Given the description of an element on the screen output the (x, y) to click on. 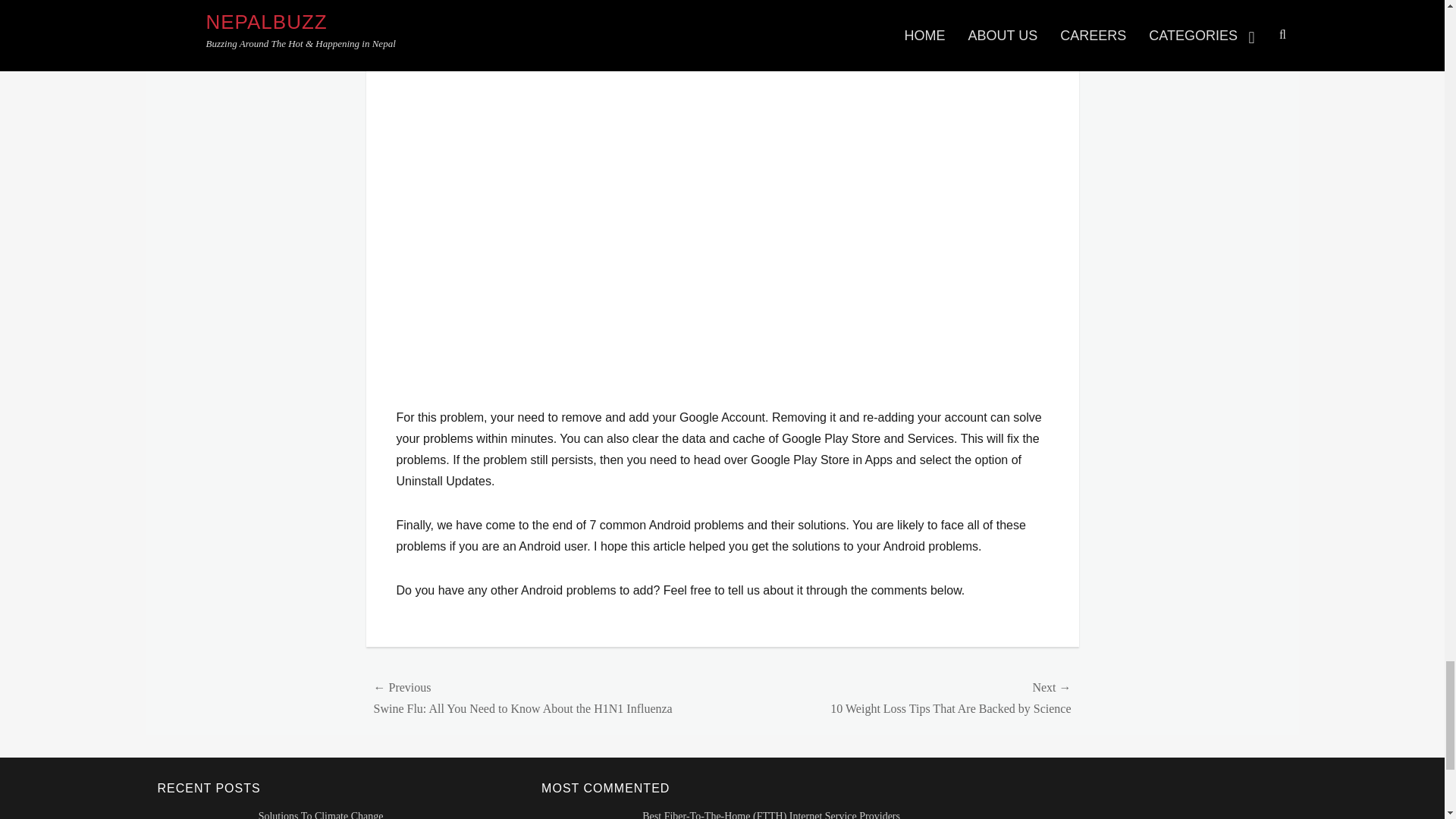
Solutions To Climate Change (321, 814)
Solutions To Climate Change (321, 814)
